Given the description of an element on the screen output the (x, y) to click on. 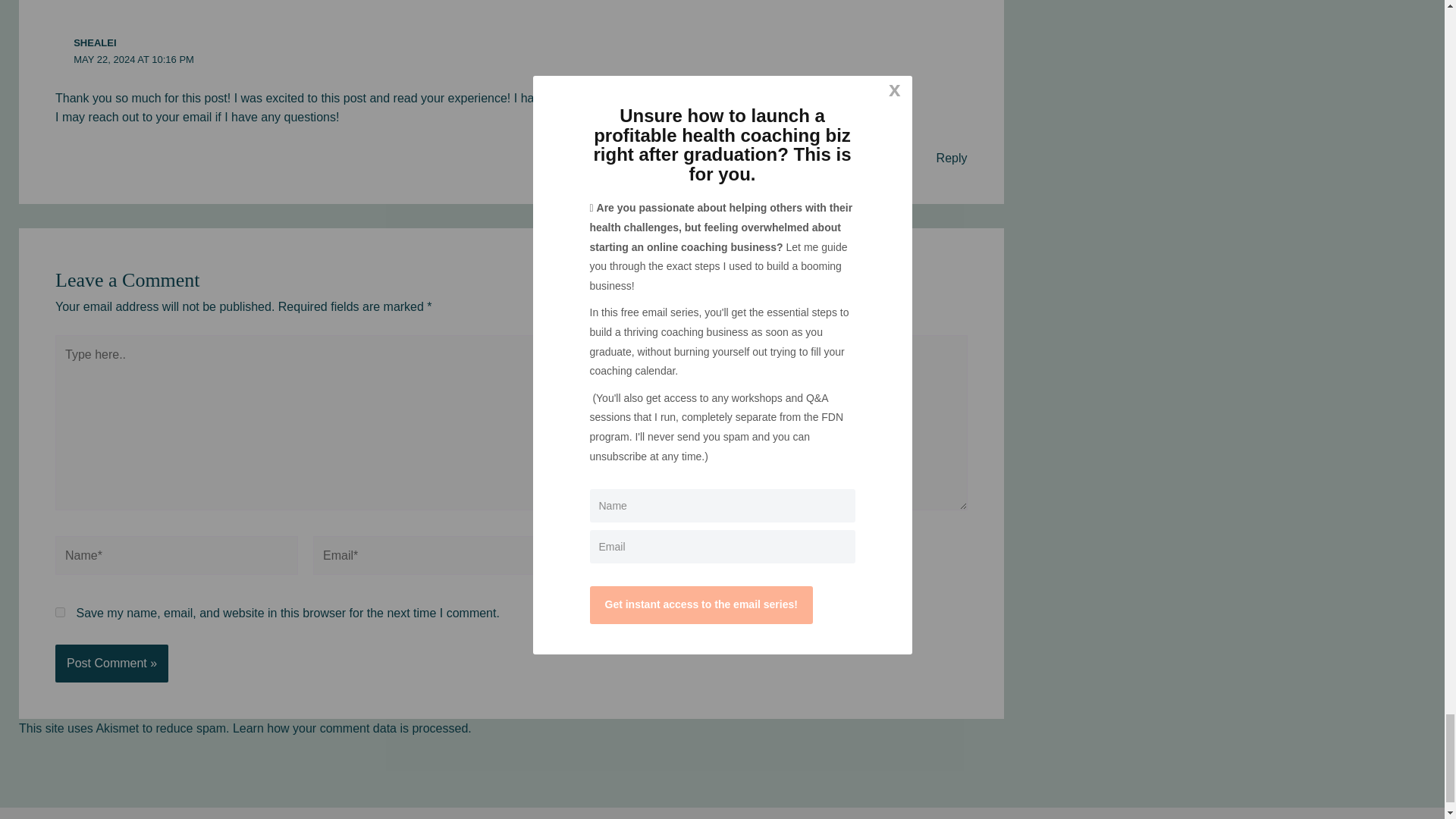
yes (60, 612)
